Given the description of an element on the screen output the (x, y) to click on. 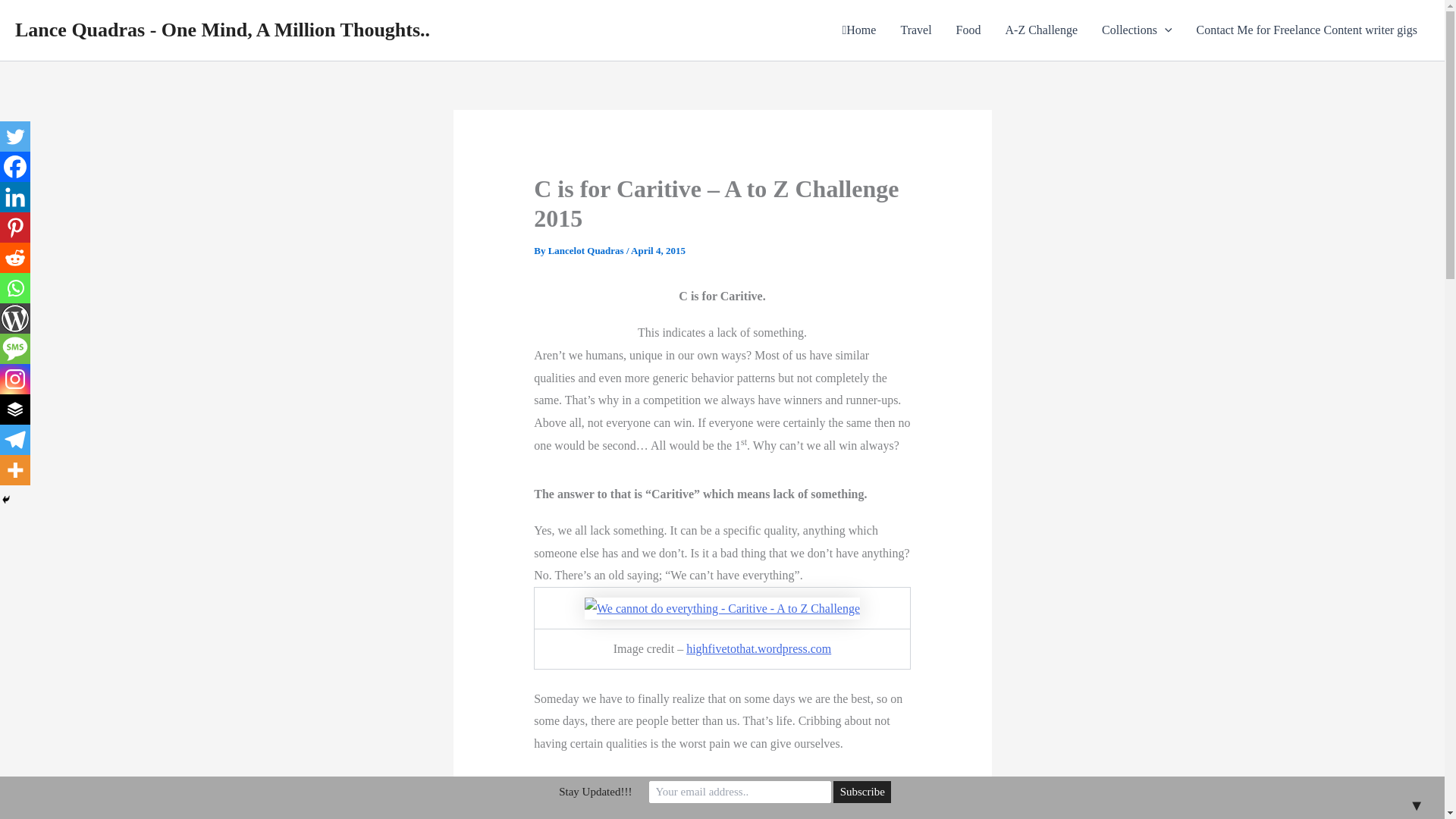
highfivetothat.wordpress.com (758, 648)
Twitter (15, 136)
WordPress (15, 318)
Subscribe (861, 792)
Reddit (15, 257)
Home (858, 30)
Lancelot Quadras (587, 250)
Instagram (15, 378)
View all posts by Lancelot Quadras (587, 250)
Whatsapp (15, 287)
Contact Me for Freelance Content writer gigs (1307, 30)
SMS (15, 348)
Linkedin (15, 196)
Lance Quadras - One Mind, A Million Thoughts.. (221, 29)
Travel (915, 30)
